Given the description of an element on the screen output the (x, y) to click on. 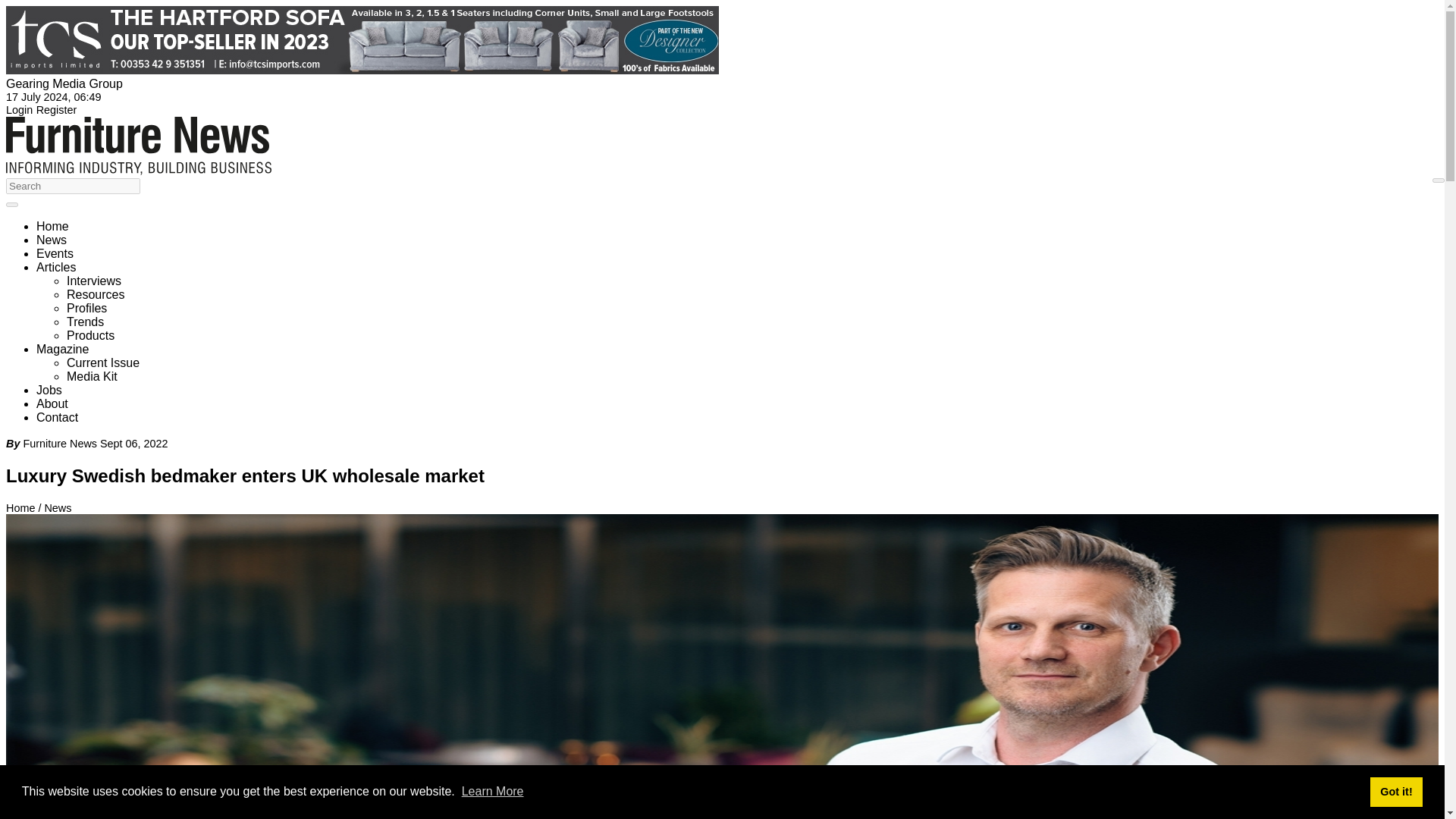
Magazine (62, 349)
Jobs (49, 390)
Interviews (93, 280)
Register (56, 110)
Home (52, 226)
Media Kit (91, 376)
News (51, 239)
Articles (55, 267)
Login (18, 110)
Resources (94, 294)
Products (90, 335)
Trends (84, 321)
Events (55, 253)
Contact (57, 417)
News (57, 508)
